Given the description of an element on the screen output the (x, y) to click on. 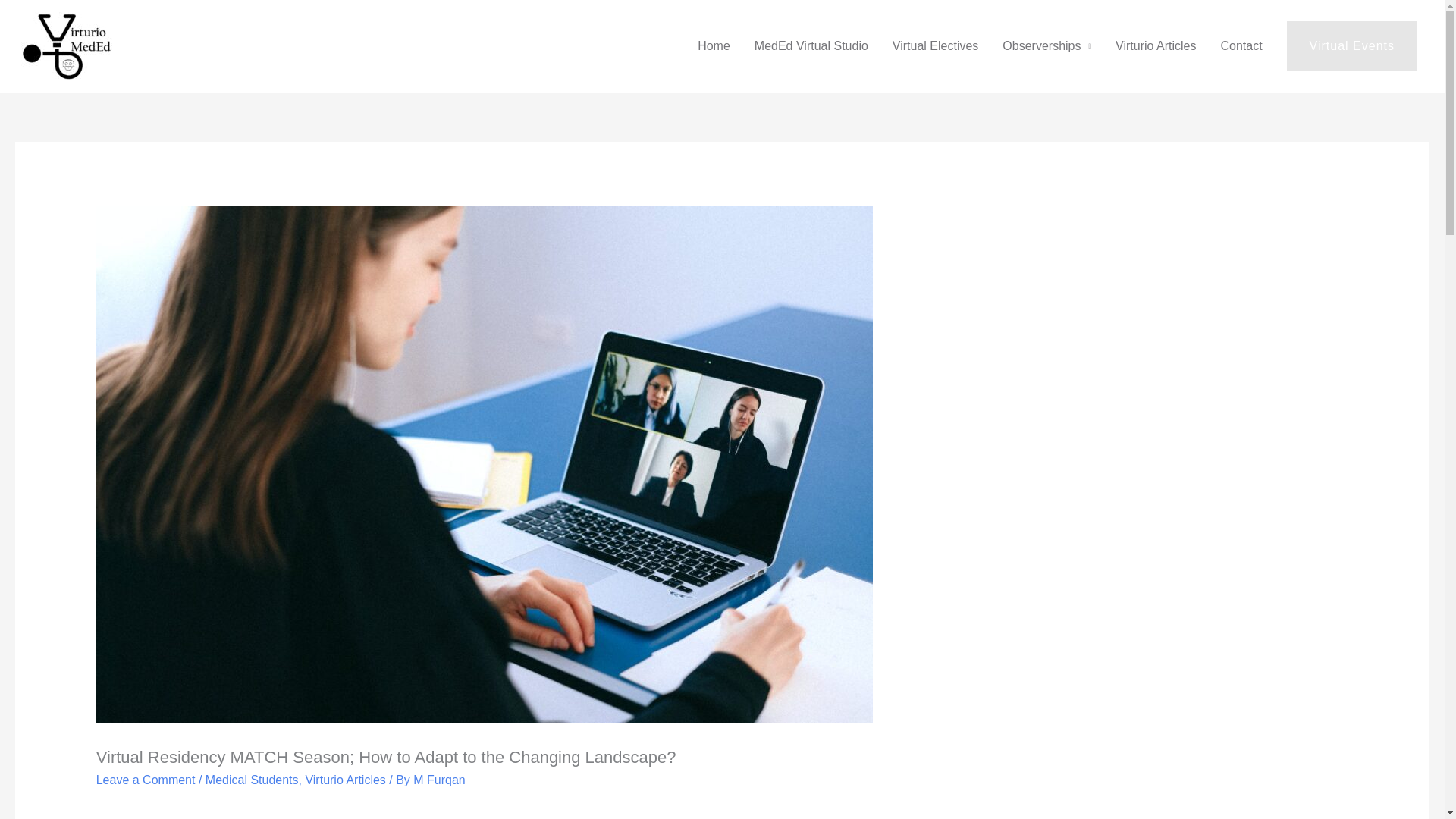
Leave a Comment (145, 779)
MedEd Virtual Studio (811, 46)
Home (713, 46)
Medical Students (251, 779)
Virturio Articles (344, 779)
M Furqan (438, 779)
View all posts by M Furqan (438, 779)
Virtual Events (1351, 46)
Observerships (1046, 46)
Virturio Articles (1155, 46)
